Given the description of an element on the screen output the (x, y) to click on. 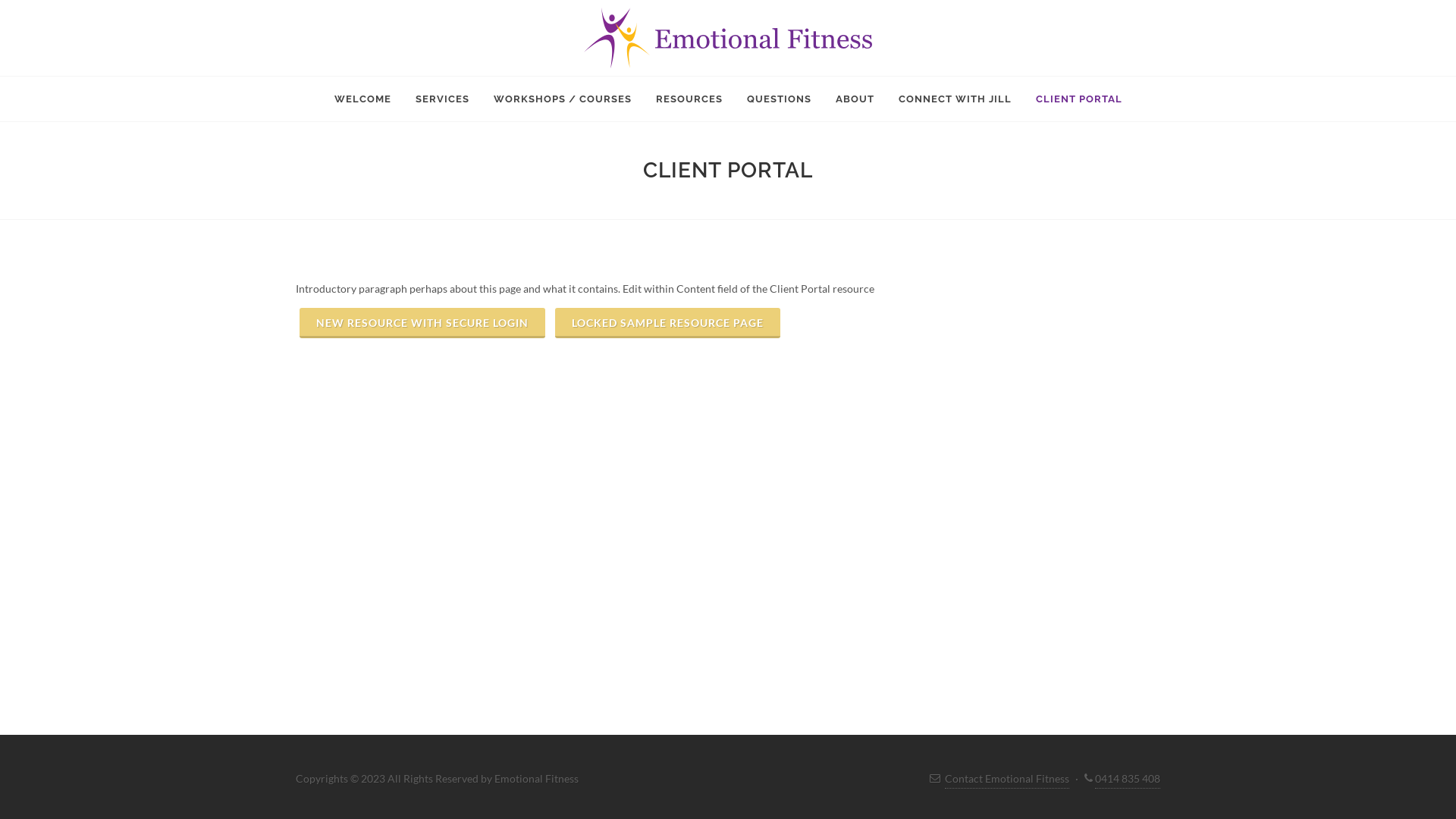
WORKSHOPS / COURSES Element type: text (562, 99)
NEW RESOURCE WITH SECURE LOGIN Element type: text (422, 322)
0414 835 408 Element type: text (1127, 778)
QUESTIONS Element type: text (778, 99)
CLIENT PORTAL Element type: text (1077, 99)
RESOURCES Element type: text (689, 99)
WELCOME Element type: text (362, 99)
LOCKED SAMPLE RESOURCE PAGE Element type: text (667, 322)
ABOUT Element type: text (853, 99)
SERVICES Element type: text (441, 99)
Contact Emotional Fitness Element type: text (1006, 778)
CONNECT WITH JILL Element type: text (954, 99)
